Given the description of an element on the screen output the (x, y) to click on. 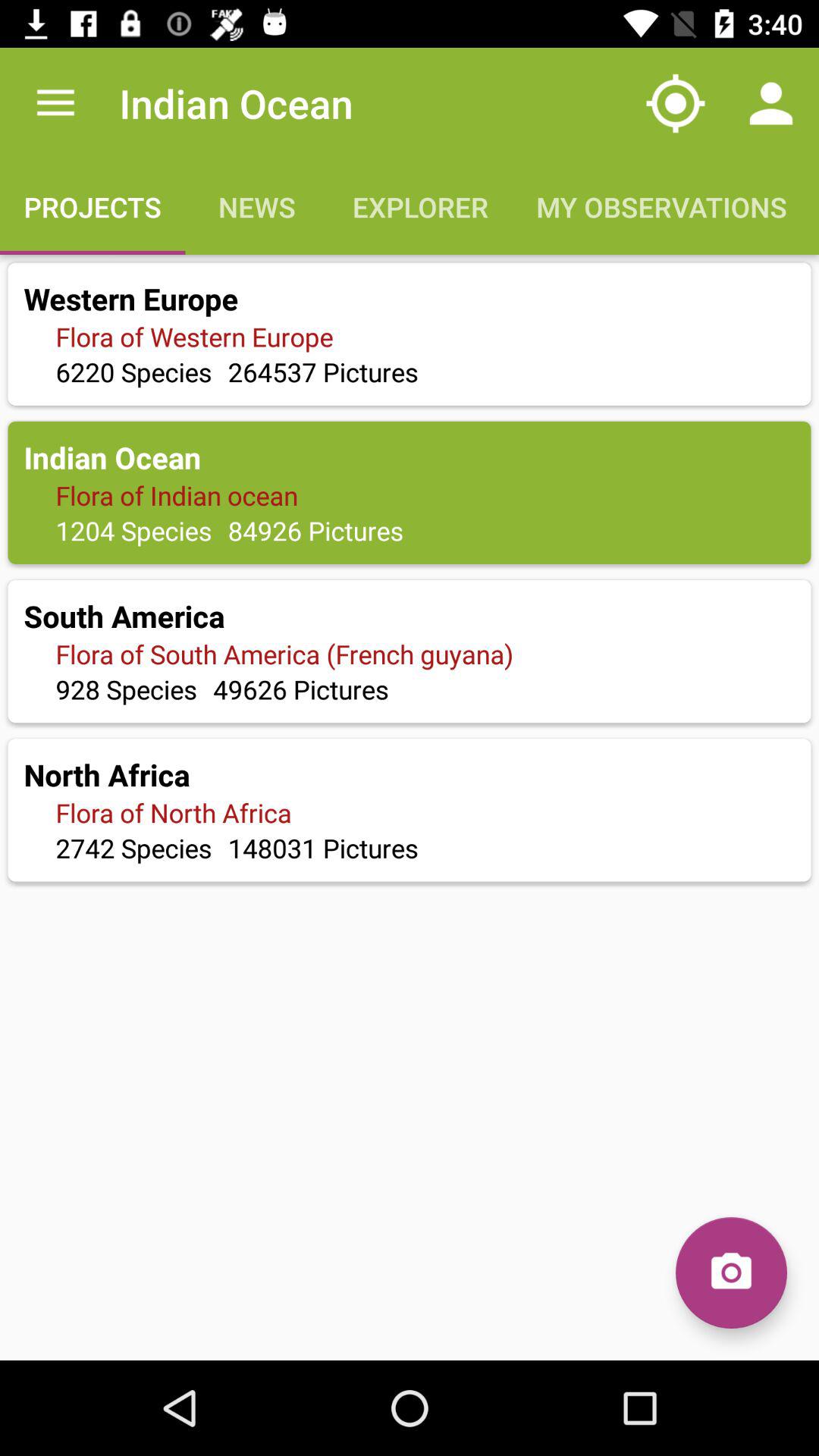
tap app to the left of the indian ocean item (55, 103)
